Given the description of an element on the screen output the (x, y) to click on. 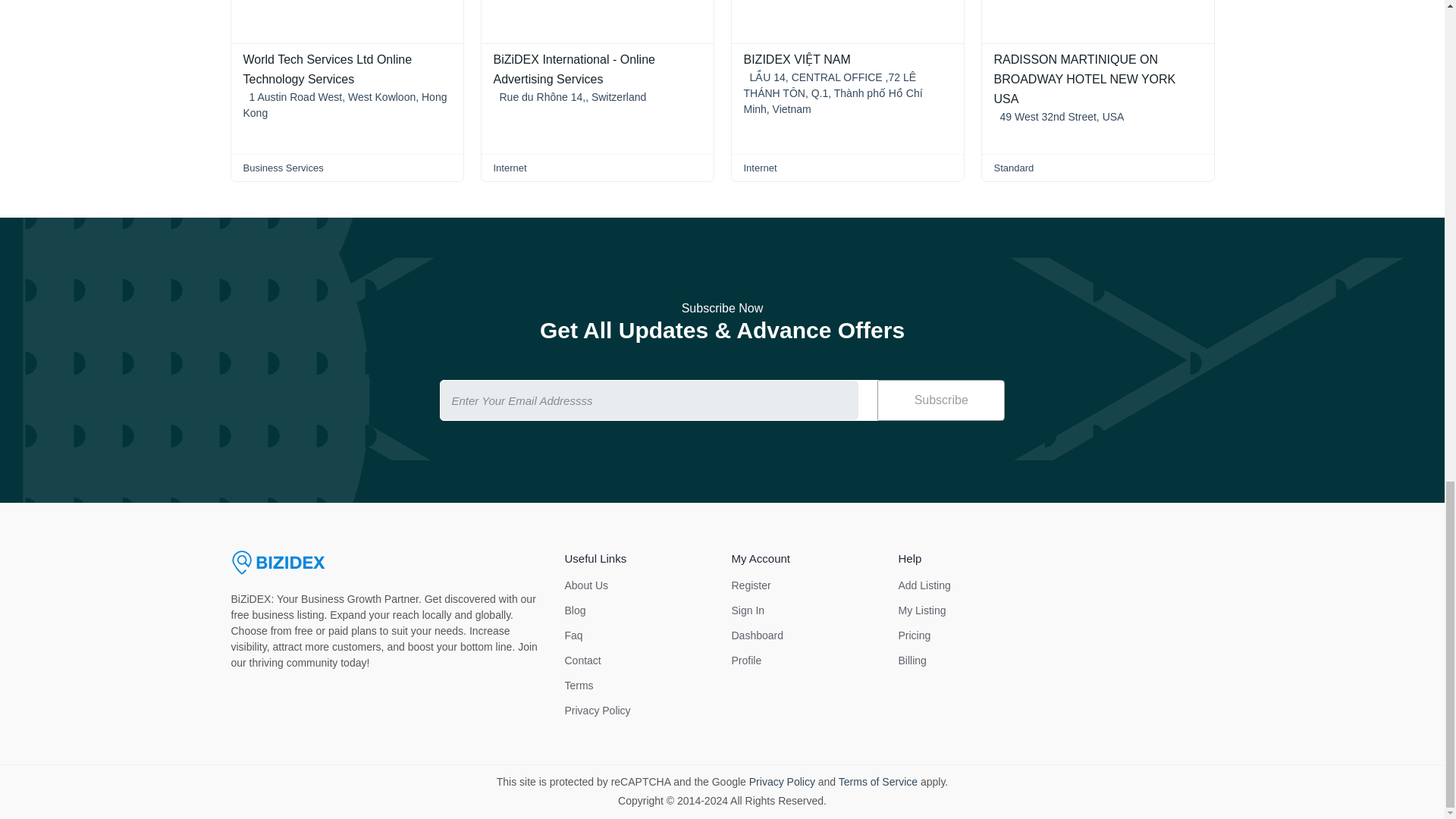
Privacy Policy (597, 710)
Dashboard (756, 635)
About Us (586, 585)
Subscribe (940, 400)
Register (750, 585)
Add Listing (924, 585)
Faq (573, 635)
Terms (578, 685)
